Given the description of an element on the screen output the (x, y) to click on. 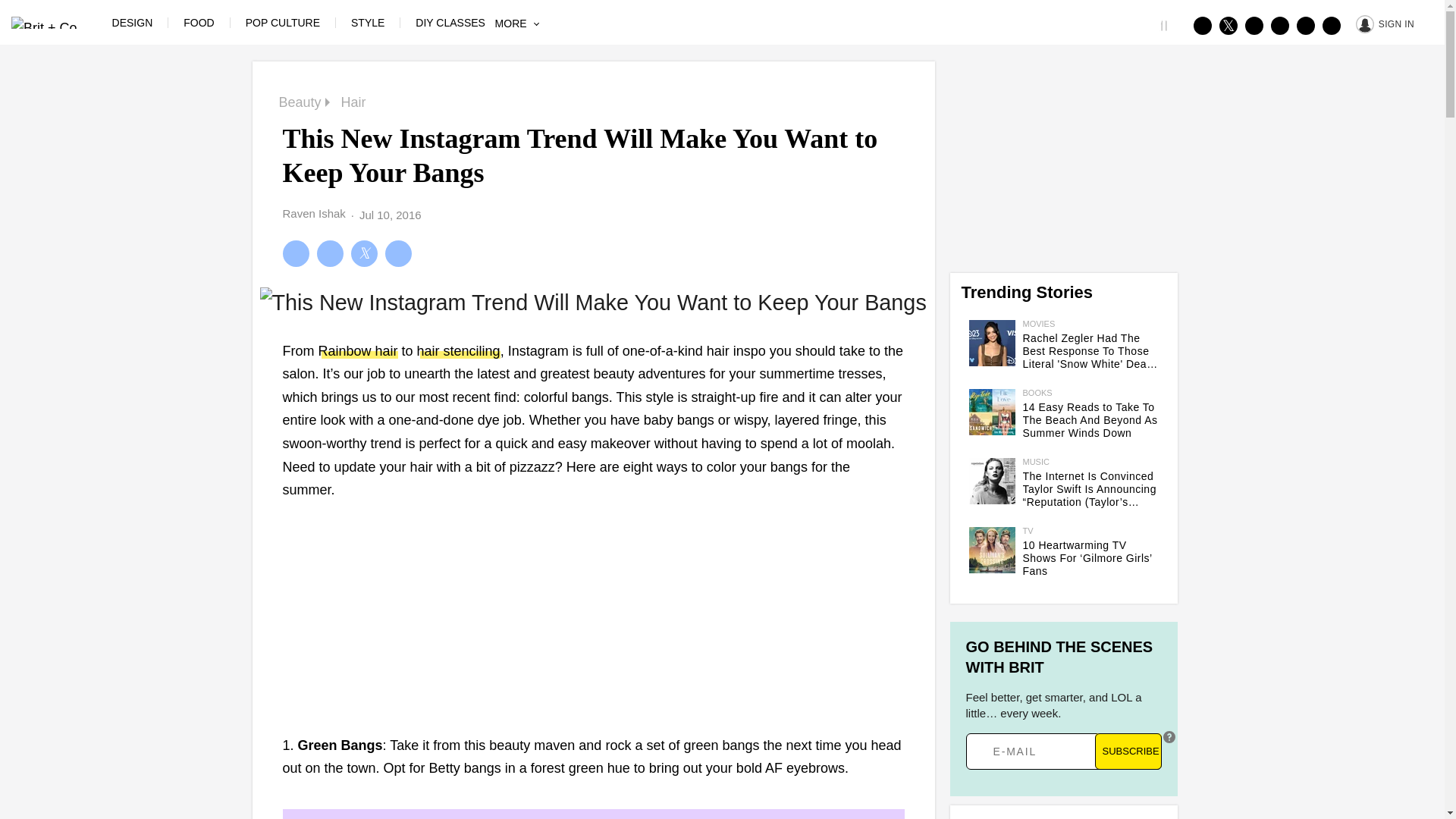
POP CULTURE (283, 22)
FOOD (198, 22)
SIGN IN (1384, 23)
STYLE (367, 22)
DIY CLASSES (449, 22)
DESIGN (132, 22)
